Given the description of an element on the screen output the (x, y) to click on. 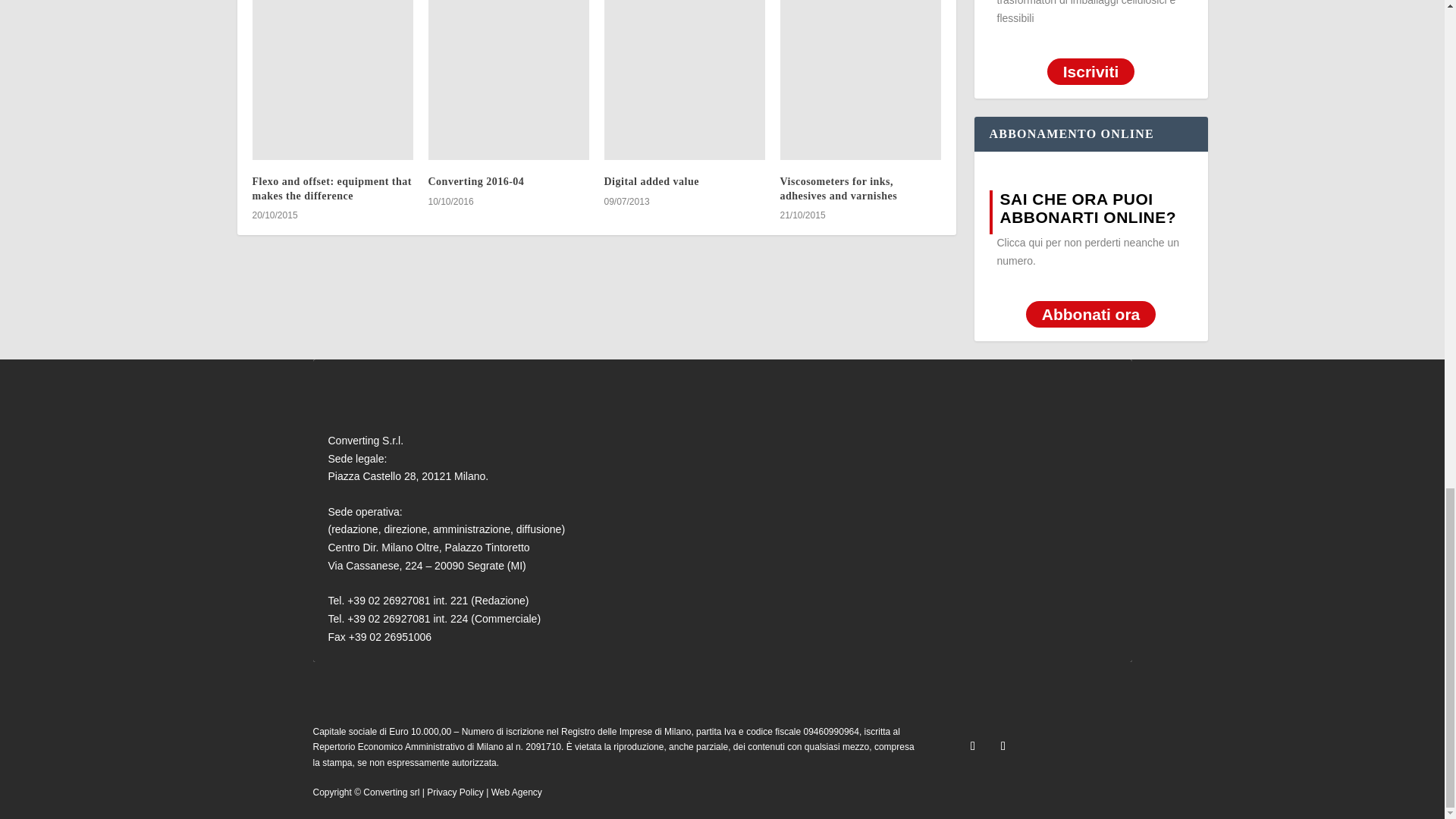
Digital added value (684, 79)
Flexo and offset: equipment that makes the difference (331, 79)
Converting 2016-04 (508, 79)
